Given the description of an element on the screen output the (x, y) to click on. 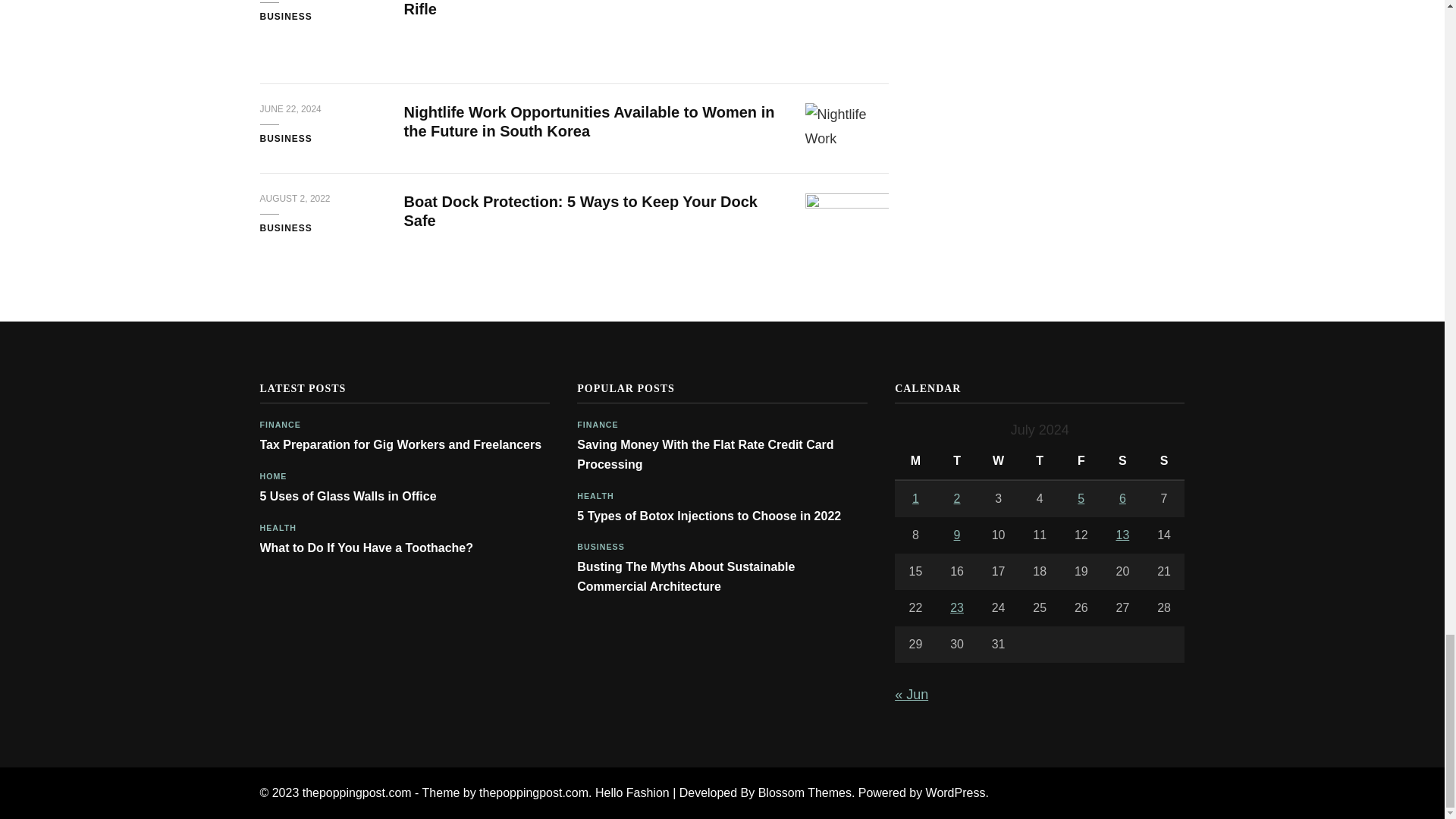
Saturday (1122, 461)
Wednesday (997, 461)
AUGUST 2, 2022 (294, 199)
BUSINESS (285, 228)
Monday (915, 461)
BUSINESS (285, 139)
JUNE 22, 2024 (289, 110)
What to Look for When Buying Parts for Your AR-15 Rifle (589, 8)
BUSINESS (285, 17)
Sunday (1163, 461)
Tuesday (957, 461)
Friday (1080, 461)
Thursday (1040, 461)
